Given the description of an element on the screen output the (x, y) to click on. 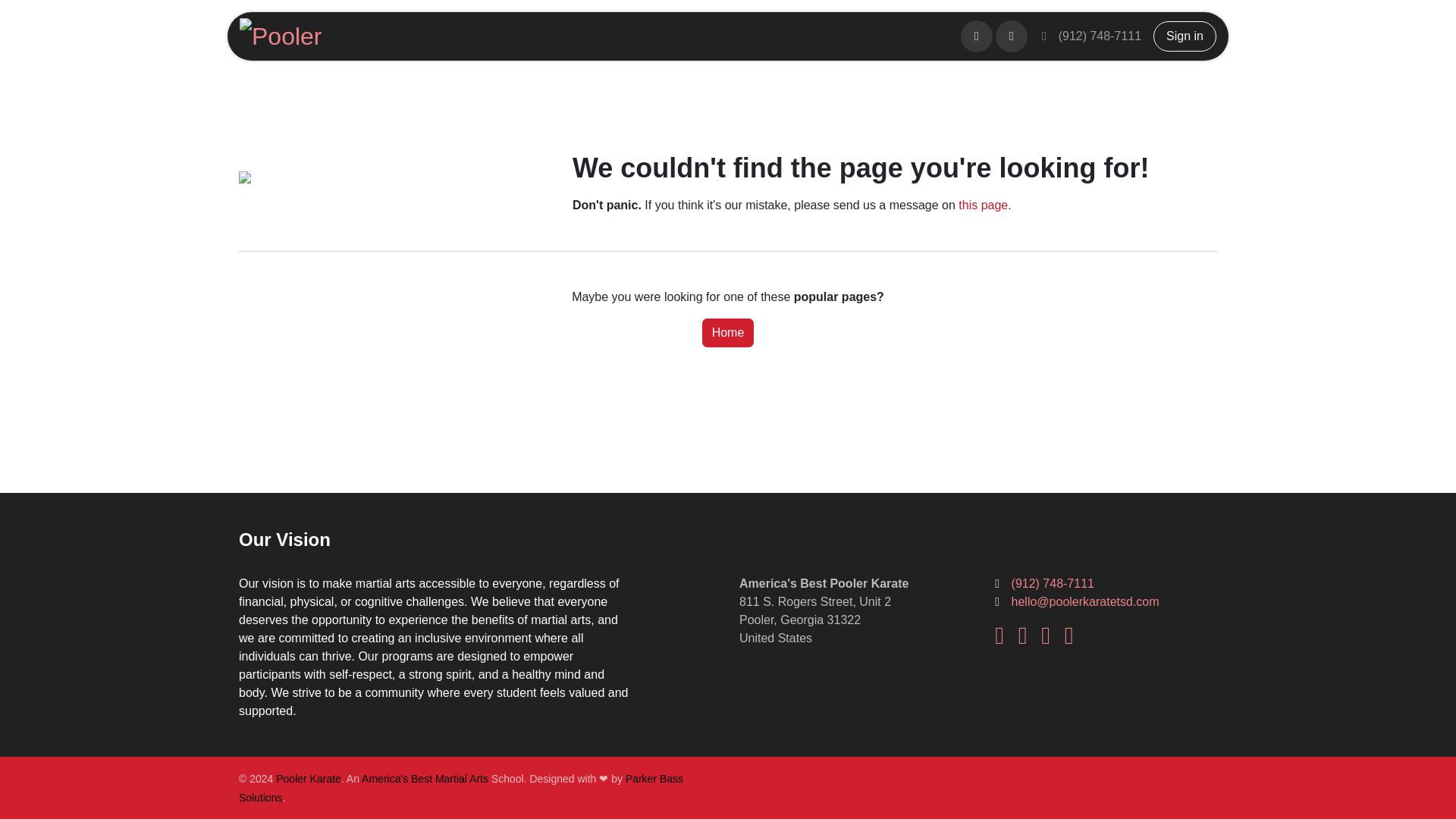
Parker Bass Solutions (460, 787)
this page (982, 205)
America's Best Martial Arts (424, 778)
Search (1011, 36)
Home (727, 332)
Pooler Karate (308, 778)
Pooler Karate Student Hub (283, 36)
Sign in (1184, 36)
